Given the description of an element on the screen output the (x, y) to click on. 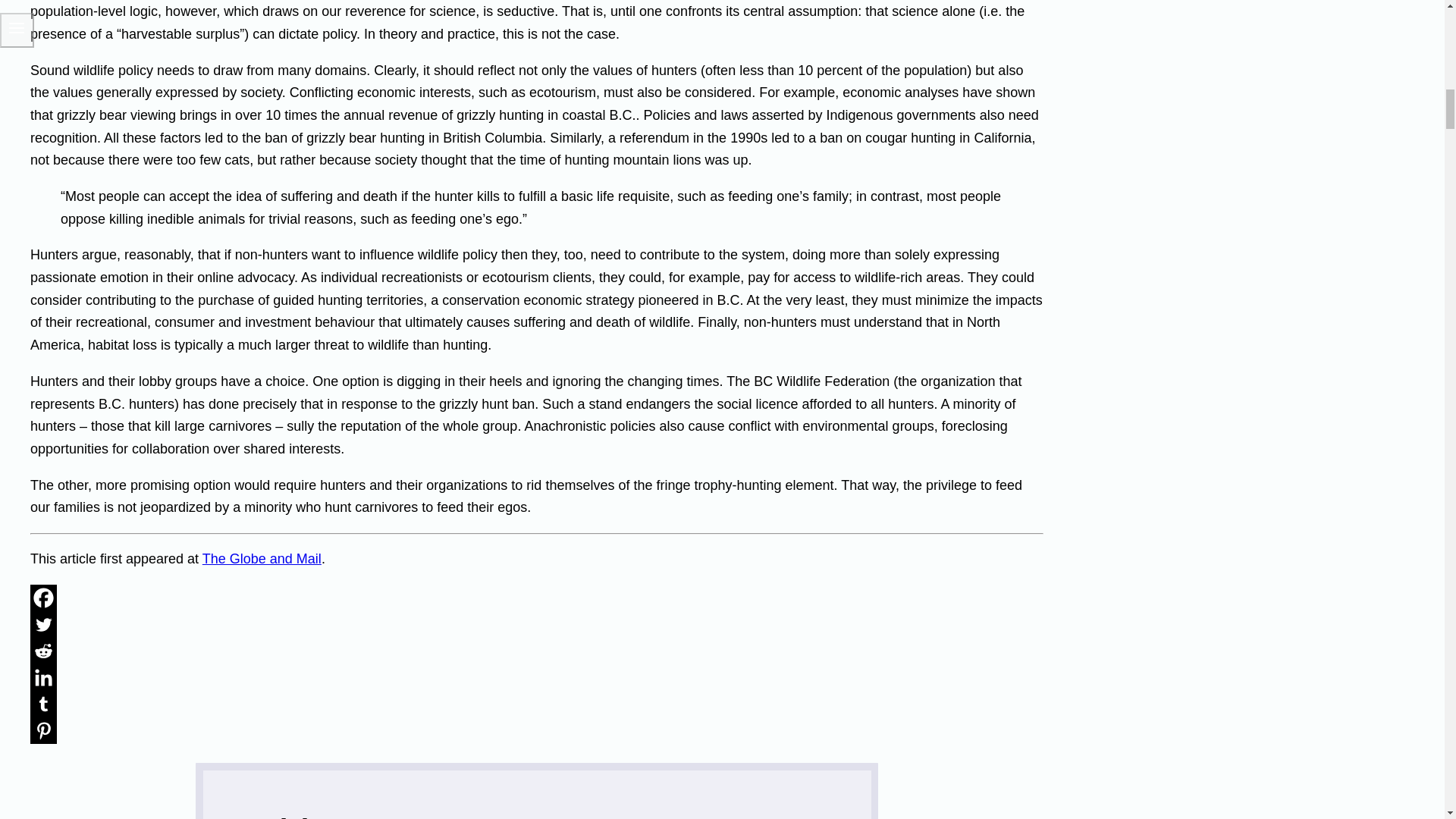
Facebook (43, 597)
The Globe and Mail (261, 558)
Toggle Menu (16, 29)
Pinterest (43, 730)
Reddit (43, 651)
Linkedin (43, 677)
Tumblr (43, 704)
Toggle Menu (16, 27)
Twitter (43, 624)
